Given the description of an element on the screen output the (x, y) to click on. 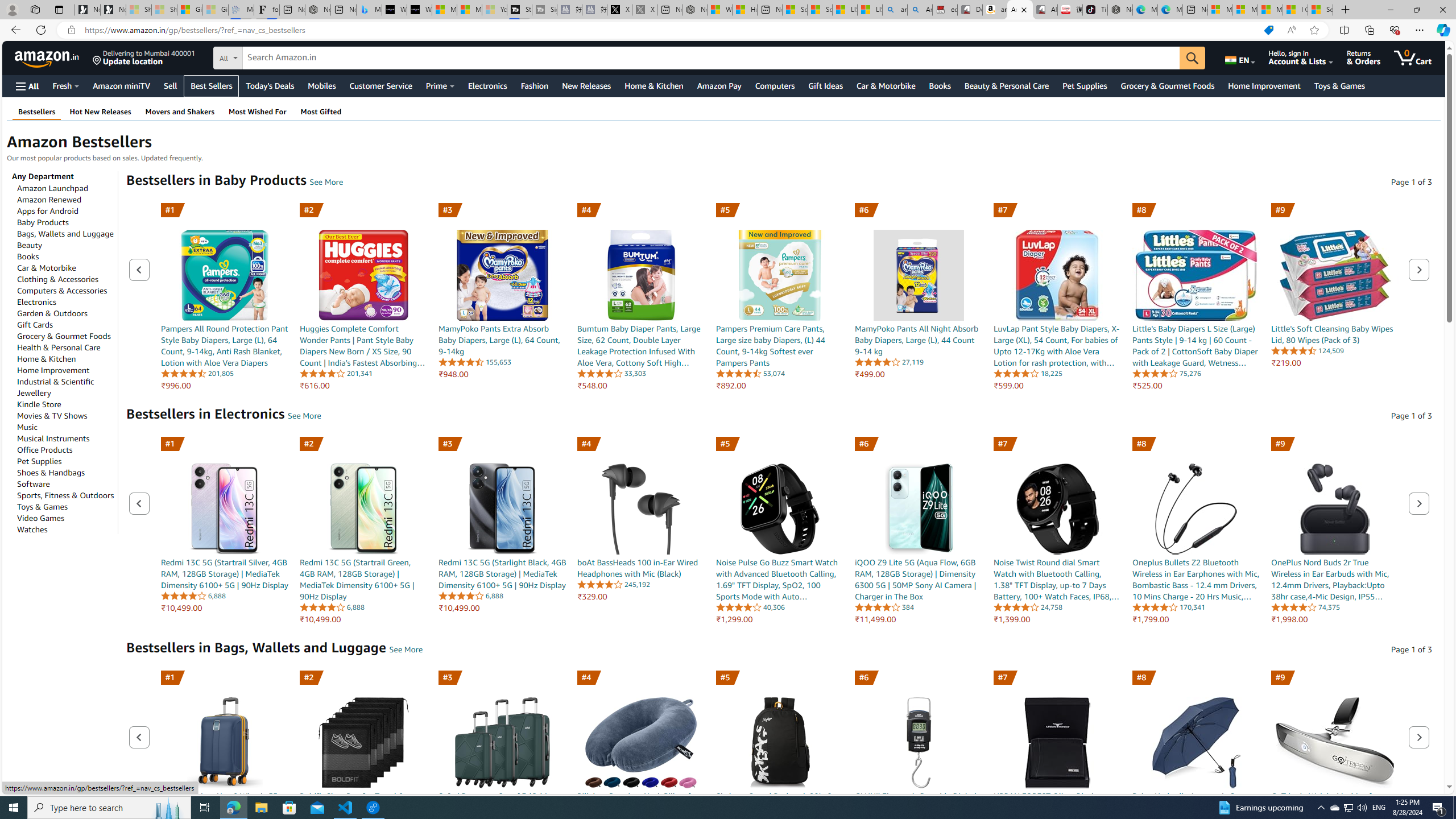
Amazon Echo Dot PNG - Search Images (919, 9)
Musical Instruments (53, 438)
0 items in cart (1413, 57)
Microsoft Bing Travel - Shangri-La Hotel Bangkok (368, 9)
Sell (169, 85)
